Given the description of an element on the screen output the (x, y) to click on. 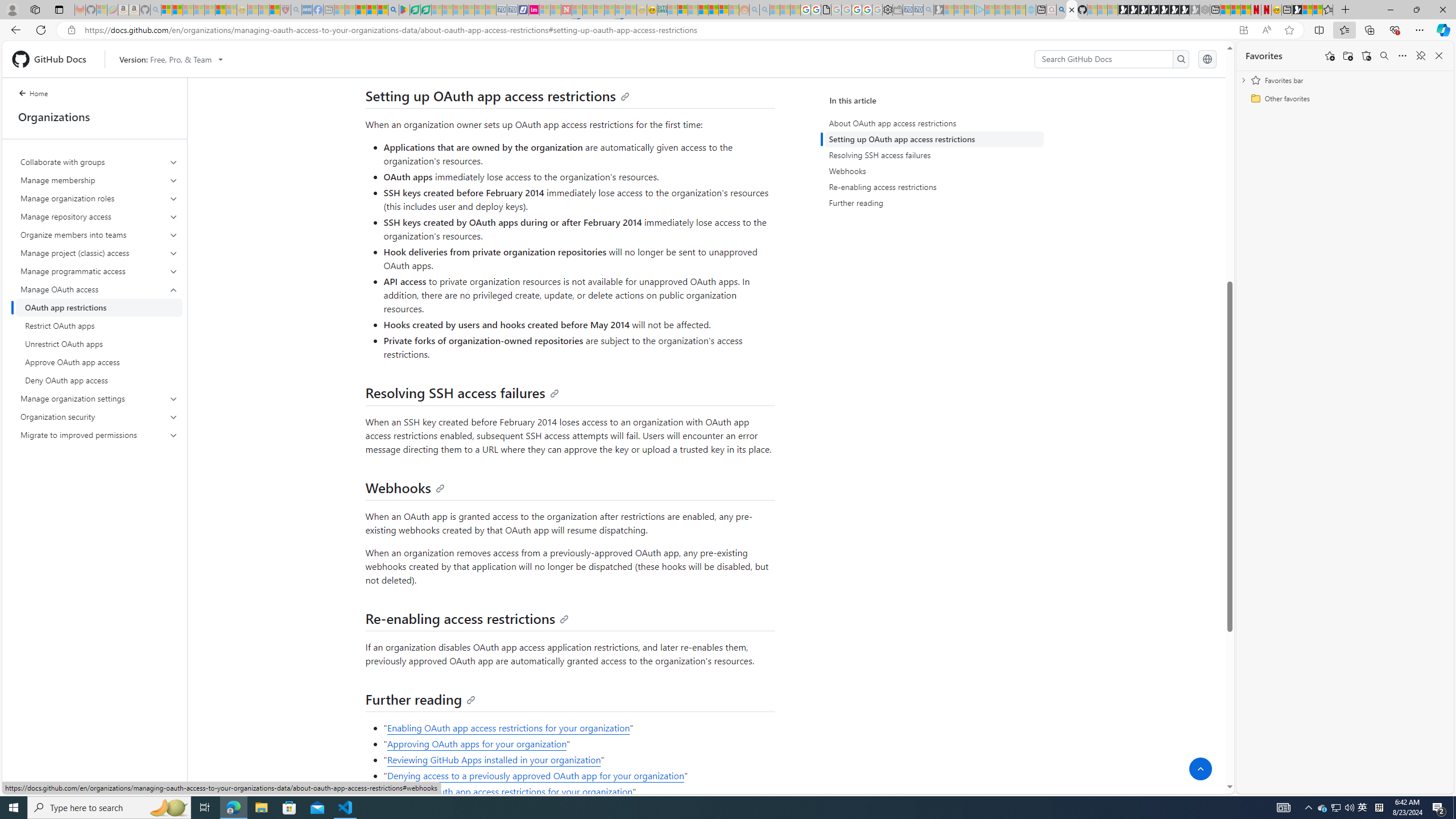
Unpin favorites (1420, 55)
Deny OAuth app access (99, 380)
Manage project (classic) access (99, 253)
Setting up a trial of GitHub Enterprise Cloud (606, 56)
Bluey: Let's Play! - Apps on Google Play (404, 9)
Setting up OAuth app access restrictions (496, 95)
